Given the description of an element on the screen output the (x, y) to click on. 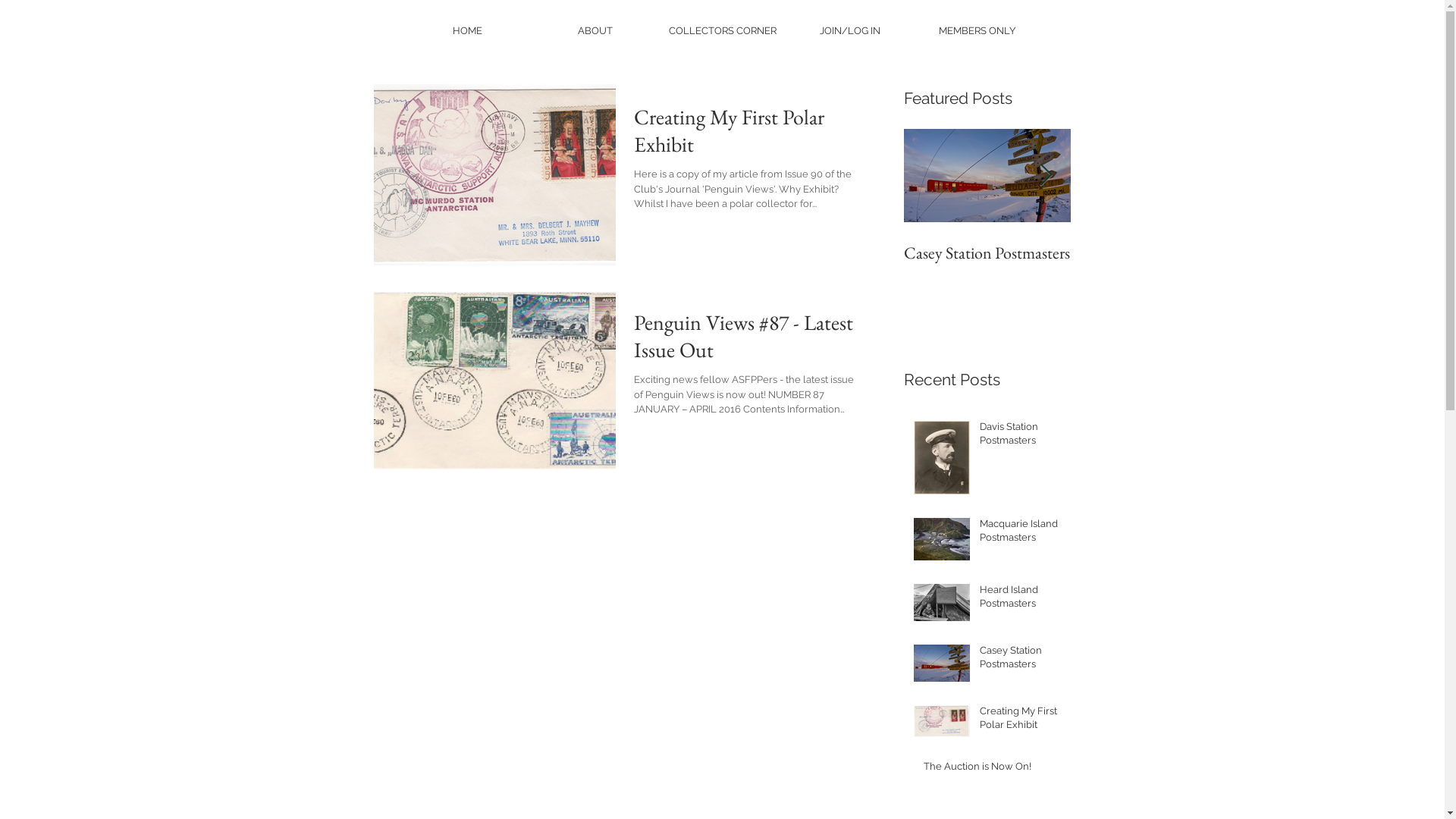
Macquarie Island Postmasters Element type: text (1020, 533)
Creating My First Polar Exhibit Element type: text (748, 134)
The Auction is Now On! Element type: text (992, 769)
ABOUT Element type: text (595, 30)
Davis Station Postmasters Element type: text (1020, 436)
Casey Station Postmasters Element type: text (1020, 660)
Penguin Views #87 - Latest Issue Out Element type: text (748, 339)
Creating My First Polar Exhibit Element type: text (1153, 263)
Casey Station Postmasters Element type: text (986, 252)
JOIN/LOG IN Element type: text (850, 30)
Heard Island Postmasters Element type: text (1020, 599)
Creating My First Polar Exhibit Element type: text (1020, 720)
HOME Element type: text (467, 30)
